Given the description of an element on the screen output the (x, y) to click on. 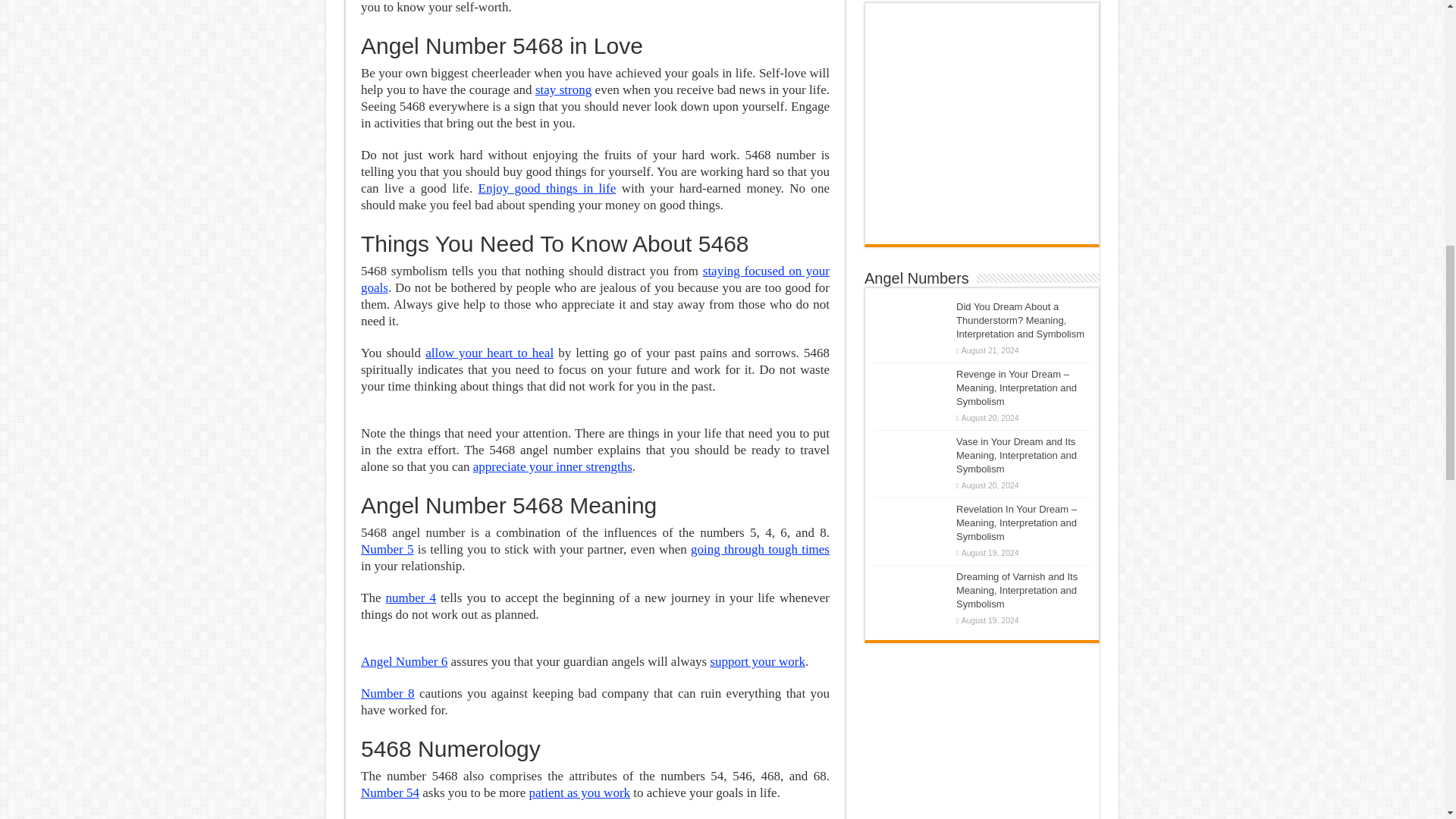
Number 54 (390, 792)
allow your heart to heal (489, 352)
patient as you work (579, 792)
going through tough times (759, 549)
staying focused on your goals (595, 278)
Number 8 (387, 693)
Enjoy good things in life (547, 187)
stay strong (563, 89)
number 4 (410, 597)
Angel Number 6 (403, 661)
